Given the description of an element on the screen output the (x, y) to click on. 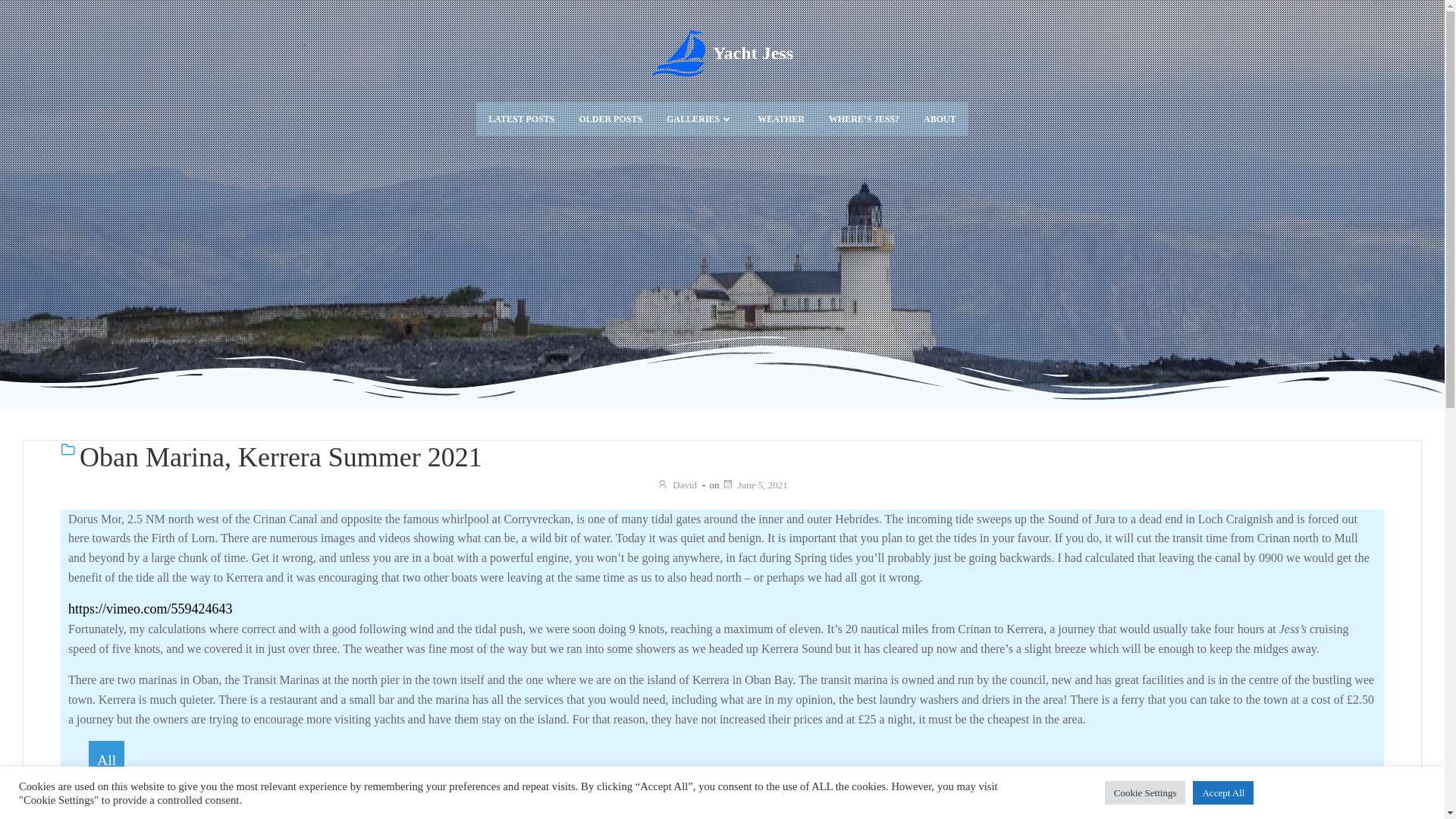
Cookie Settings (1145, 792)
June 5, 2021 (754, 484)
David (676, 484)
Oban Marina, Kerrera Summer 2021 (732, 457)
Accept All (1222, 792)
